Given the description of an element on the screen output the (x, y) to click on. 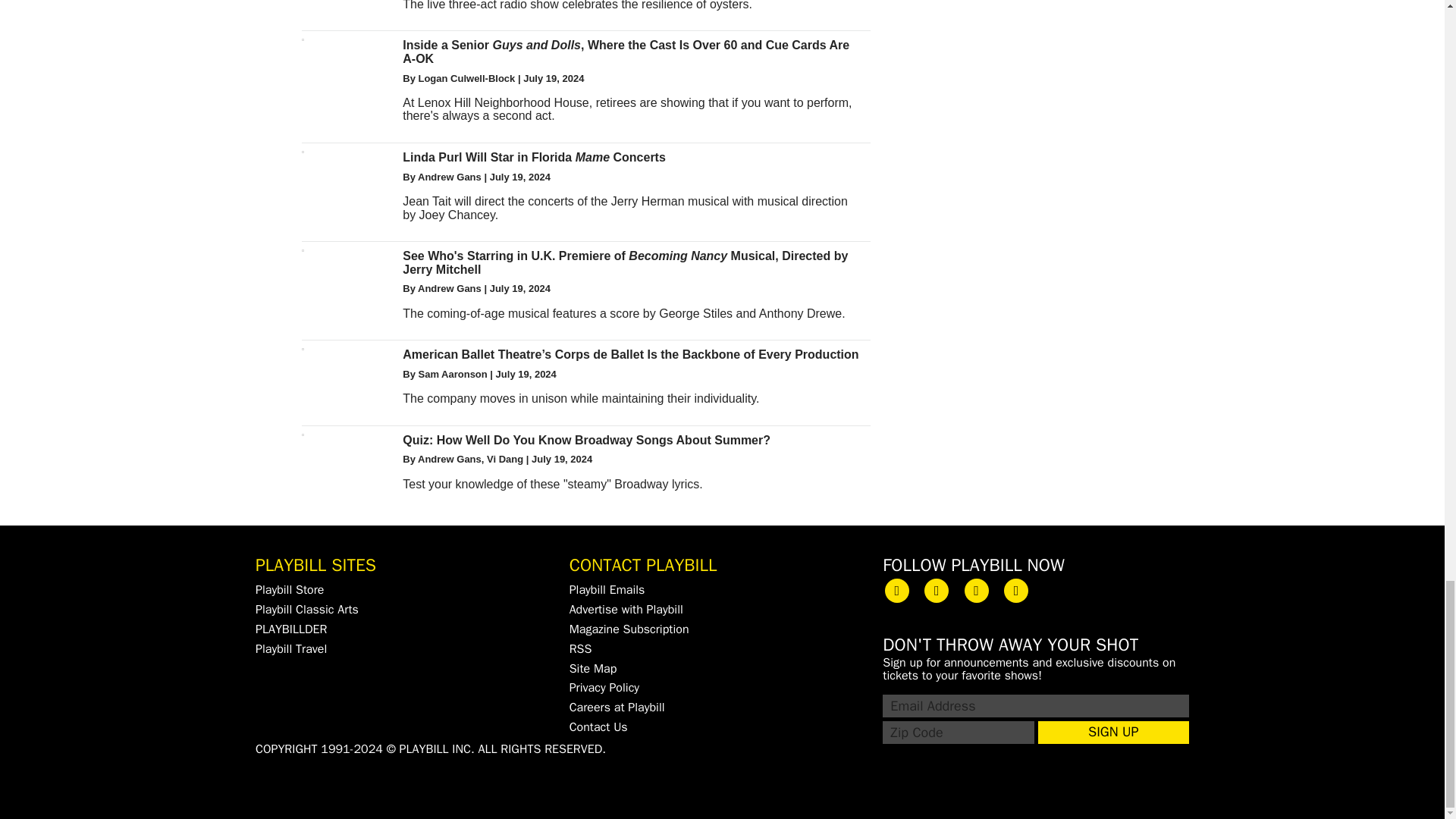
Sign Up (1113, 732)
